Given the description of an element on the screen output the (x, y) to click on. 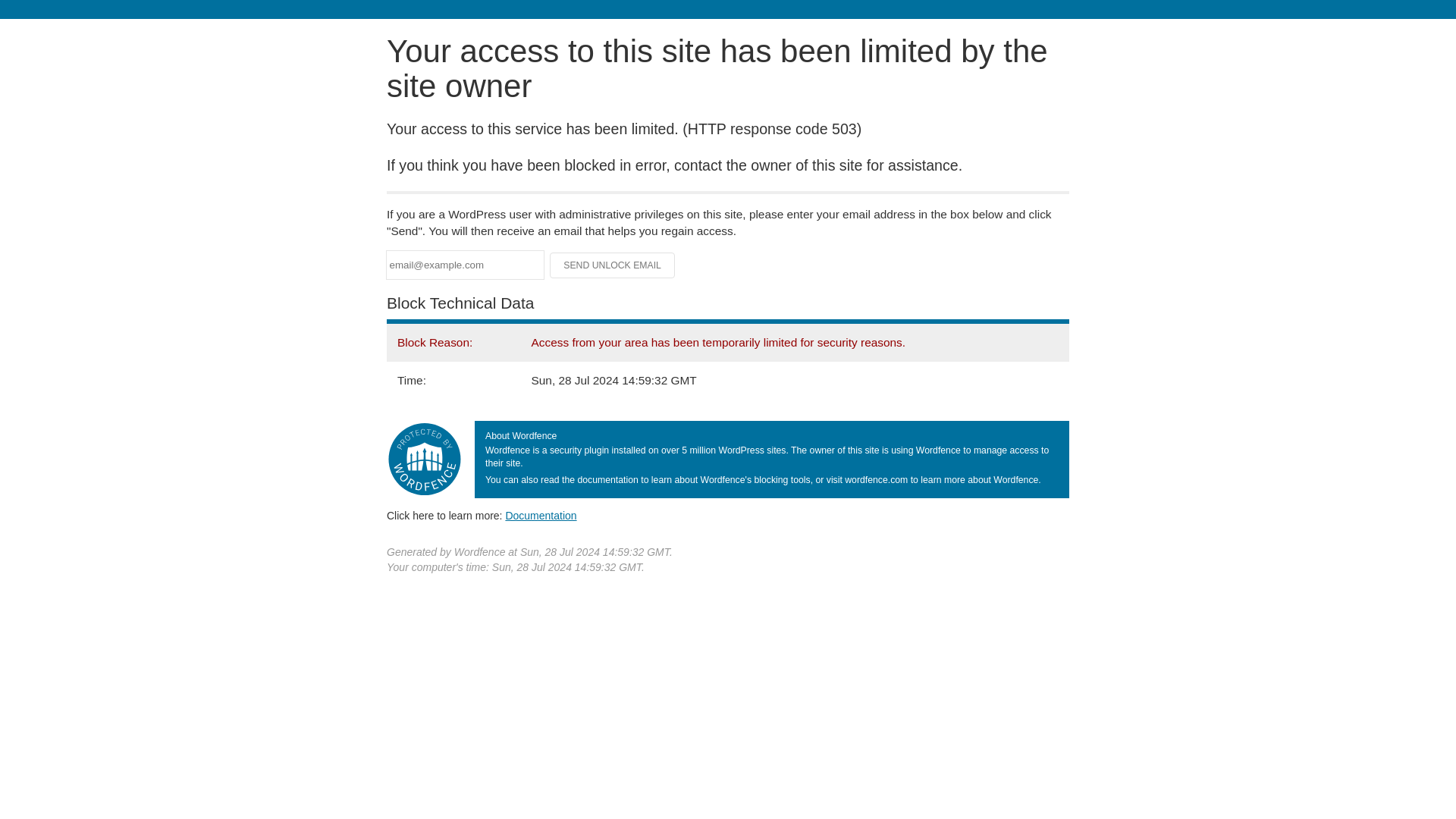
Documentation (540, 515)
Send Unlock Email (612, 265)
Send Unlock Email (612, 265)
